Given the description of an element on the screen output the (x, y) to click on. 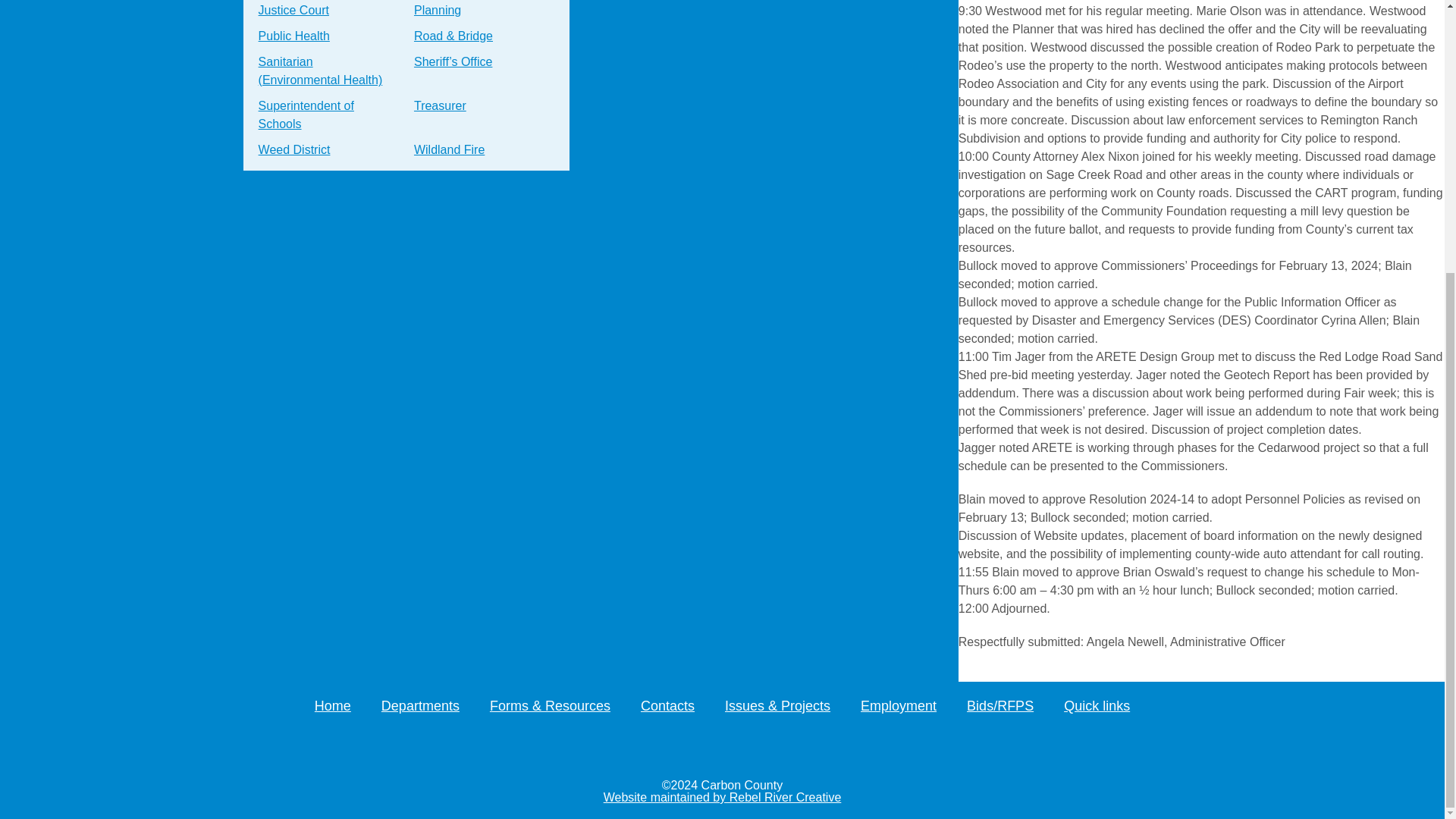
Justice Court (293, 11)
Weed District (293, 149)
Home (332, 705)
Planning (437, 11)
Public Health (293, 36)
Wildland Fire (449, 149)
Departments (420, 705)
Superintendent of Schools (326, 115)
Contacts (667, 705)
Justice Court (293, 11)
Planning (437, 11)
Treasurer (440, 105)
